Given the description of an element on the screen output the (x, y) to click on. 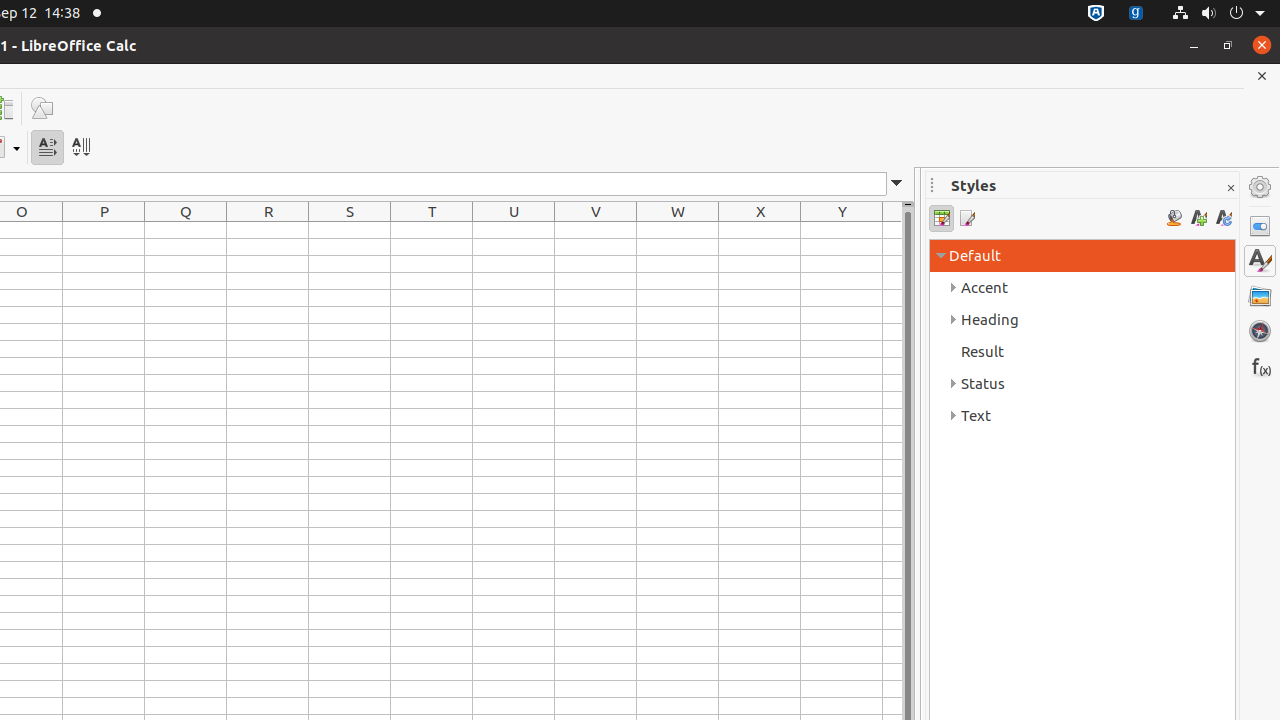
Functions Element type: radio-button (1260, 366)
X1 Element type: table-cell (760, 230)
Gallery Element type: radio-button (1260, 296)
Q1 Element type: table-cell (186, 230)
Page Styles Element type: push-button (966, 218)
